Given the description of an element on the screen output the (x, y) to click on. 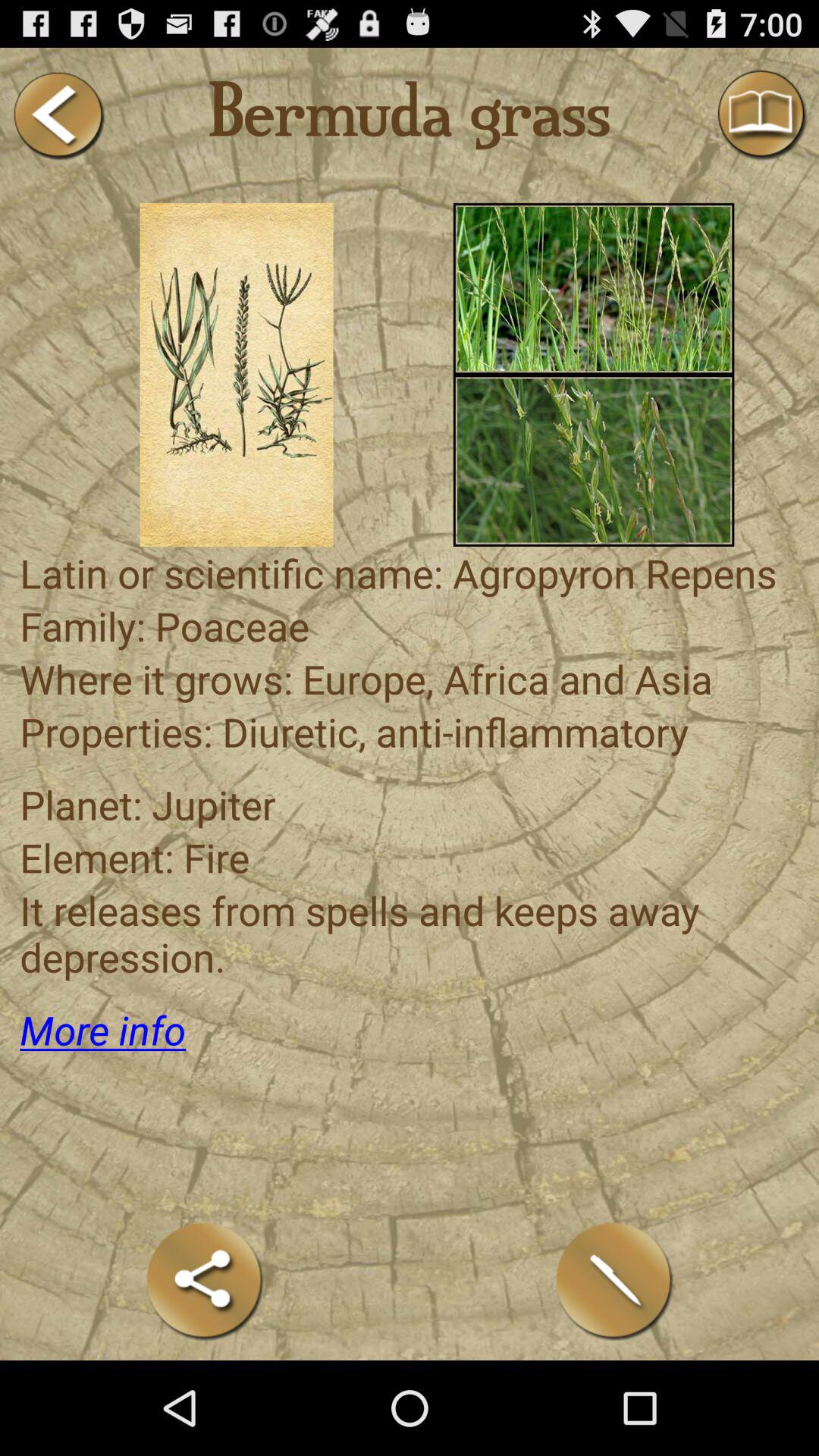
open notes (614, 1280)
